Given the description of an element on the screen output the (x, y) to click on. 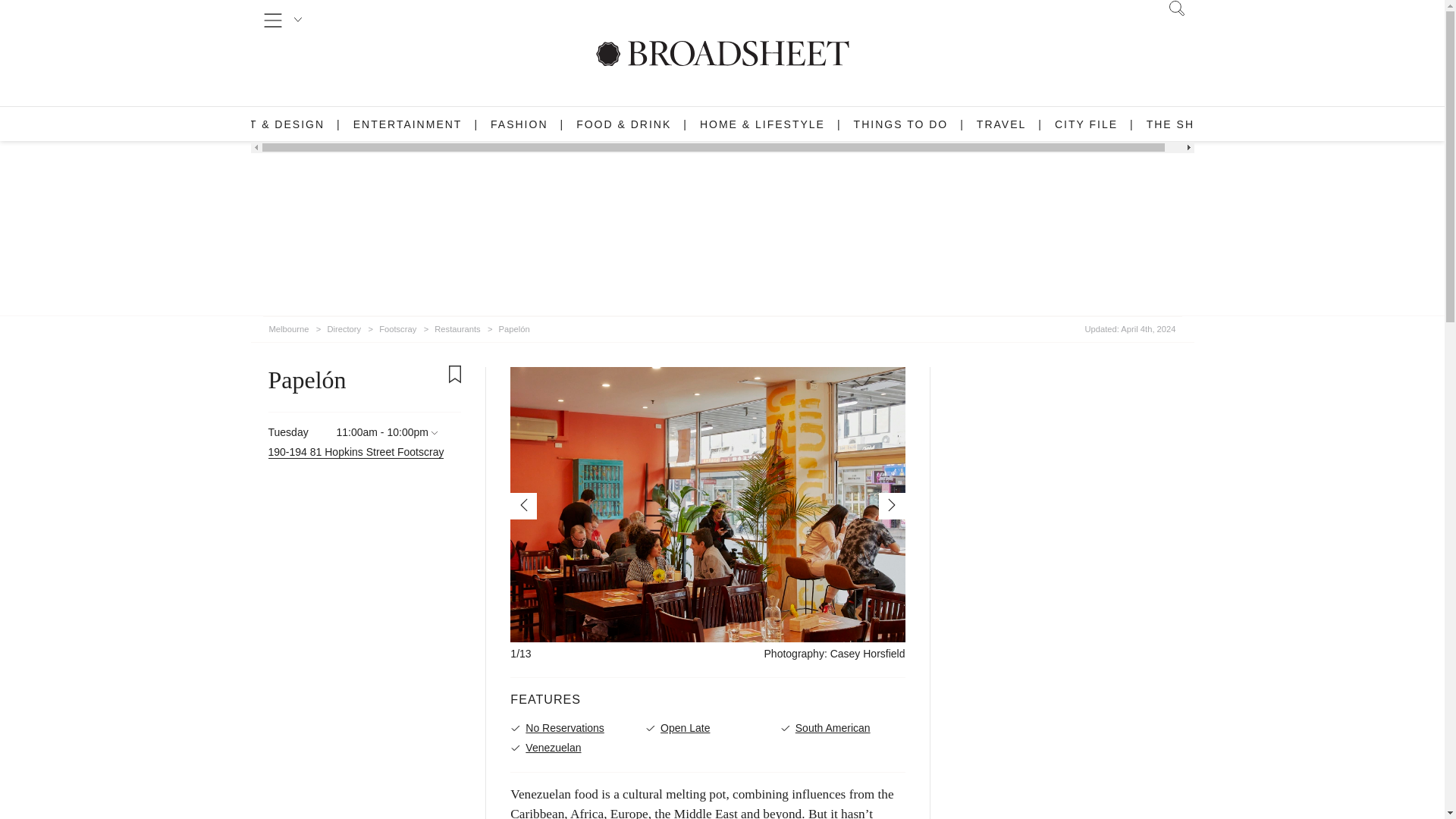
Melbourne (287, 326)
THE SHOP (1179, 124)
Open Late (708, 728)
ENTERTAINMENT (408, 124)
190-194 81 Hopkins Street Footscray (355, 451)
Directory (343, 326)
TRAVEL (1001, 124)
No Reservations (573, 728)
Footscray (397, 326)
CITY FILE (1086, 124)
